Given the description of an element on the screen output the (x, y) to click on. 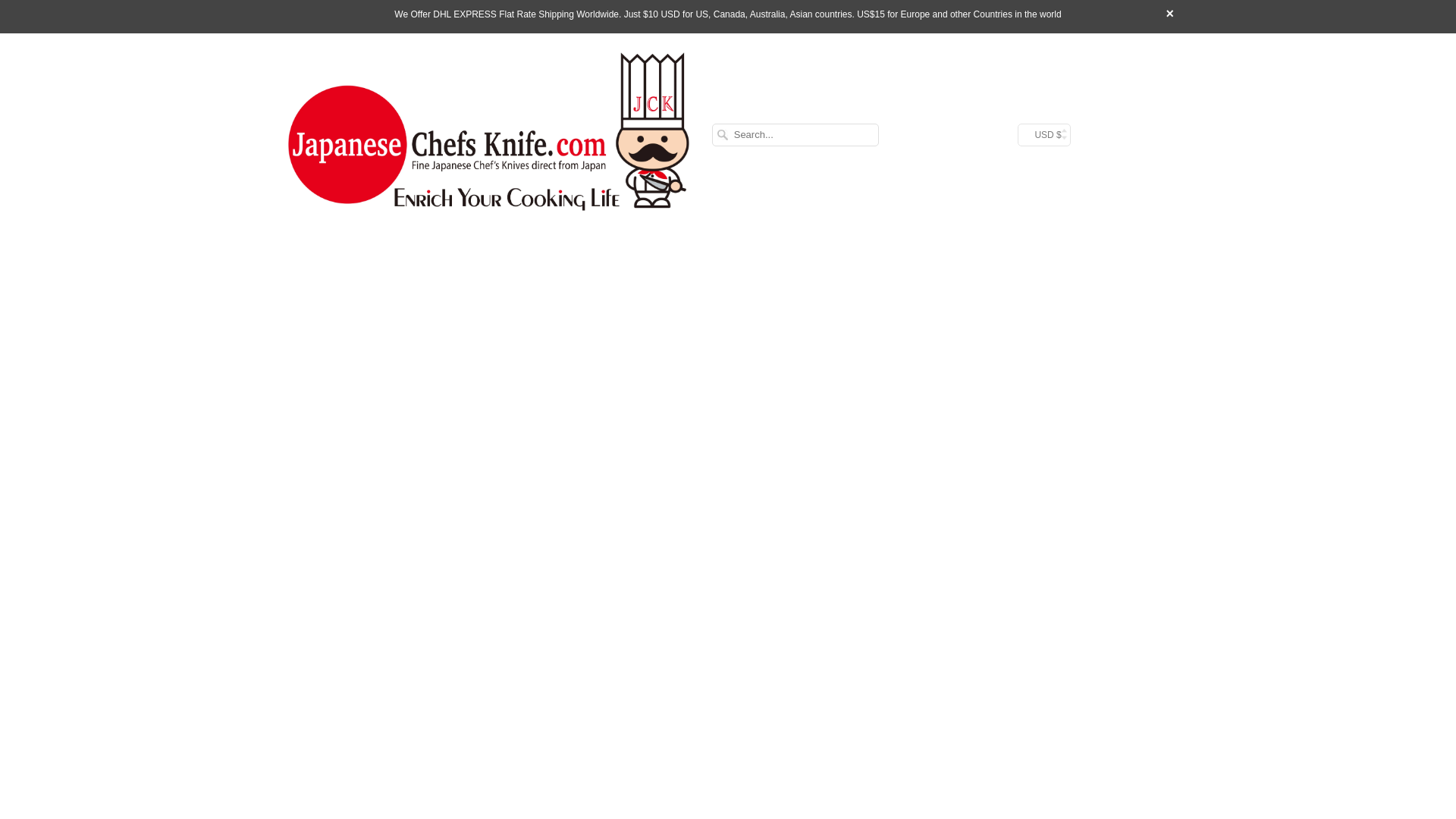
JapaneseChefsKnife.Com (489, 135)
